Given the description of an element on the screen output the (x, y) to click on. 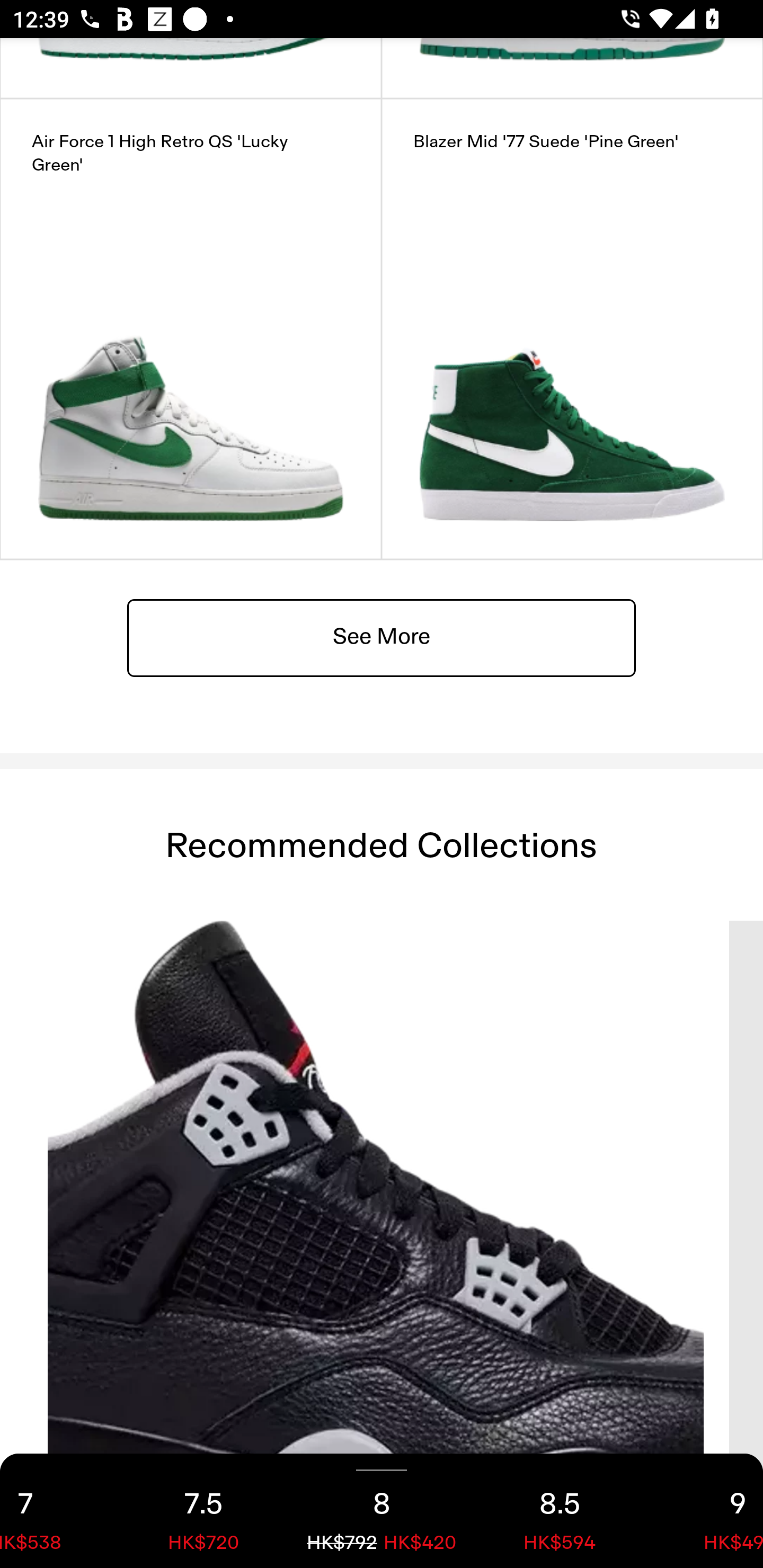
Air Force 1 High Retro QS 'Lucky Green' (190, 328)
Blazer Mid '77 Suede 'Pine Green' (572, 328)
See More (381, 637)
7 HK$538 (57, 1510)
7.5 HK$720 (203, 1510)
8 HK$792 HK$420 (381, 1510)
8.5 HK$594 (559, 1510)
9 HK$491 (705, 1510)
